Given the description of an element on the screen output the (x, y) to click on. 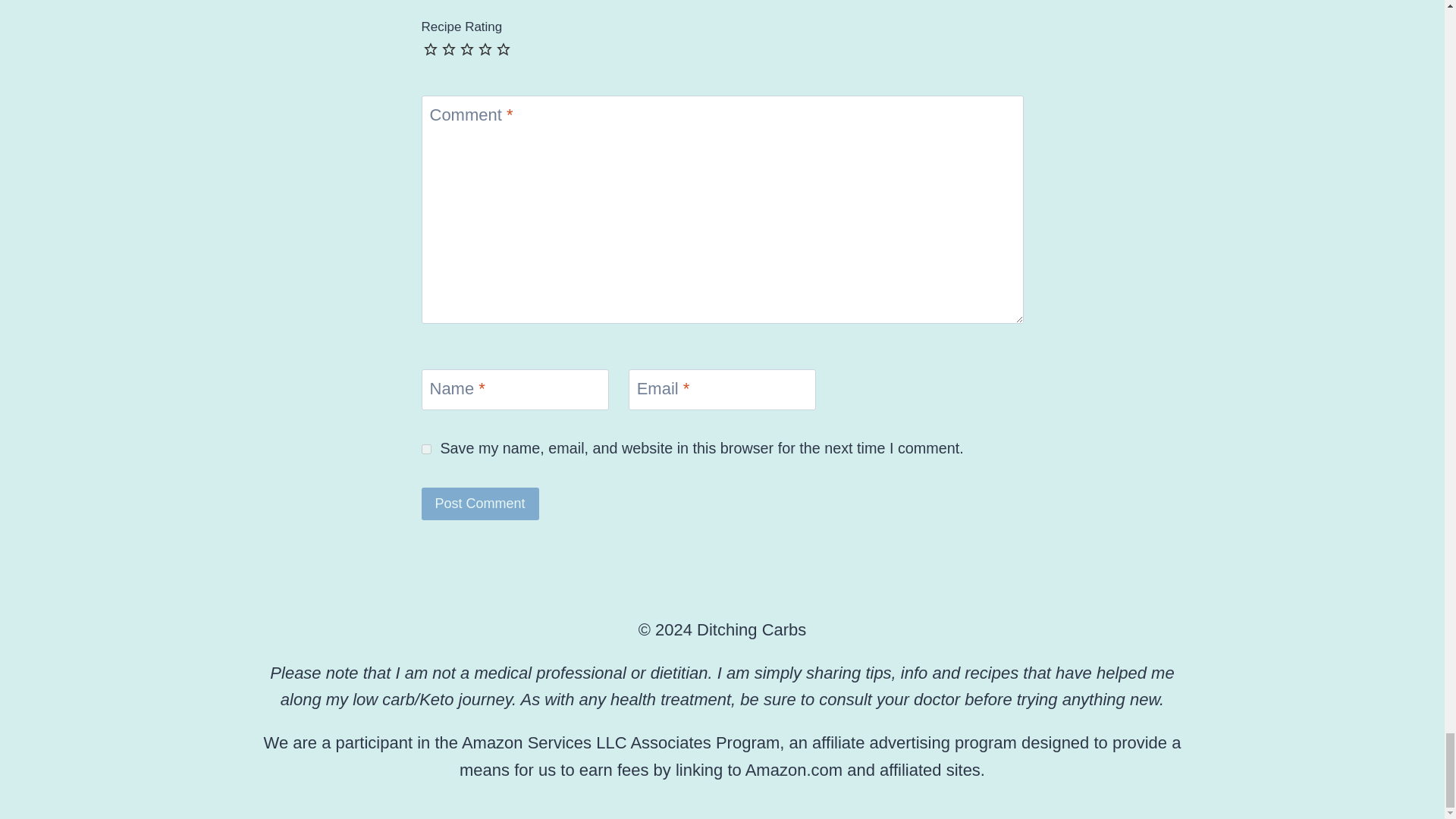
Post Comment (480, 503)
yes (426, 449)
